Given the description of an element on the screen output the (x, y) to click on. 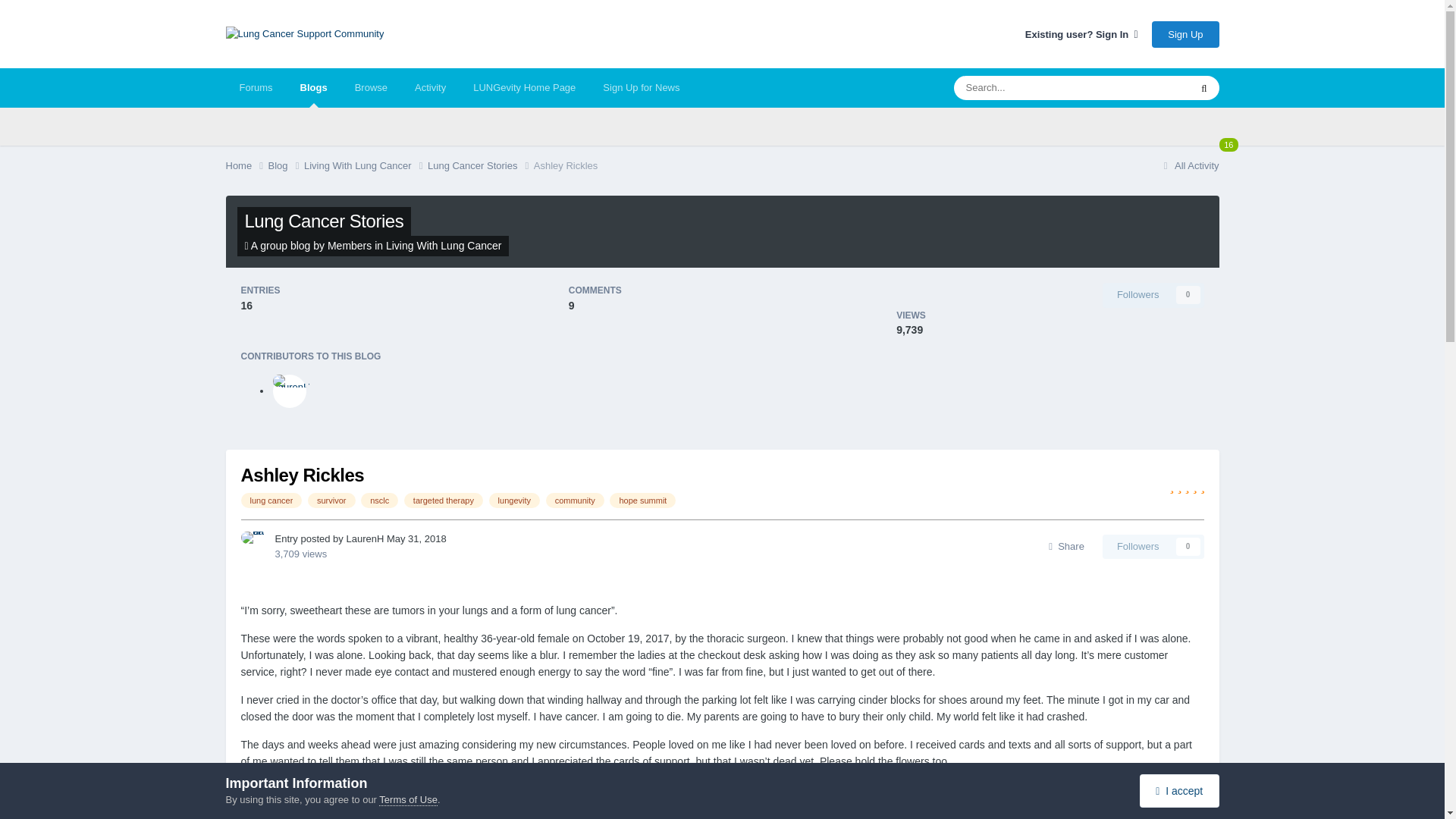
All Activity (1188, 165)
Home (246, 165)
survivor (331, 500)
Lung Cancer Stories (323, 220)
Existing user? Sign In   (1081, 34)
Find other content tagged with 'hope summit' (642, 500)
Activity (430, 87)
Find other content tagged with 'community' (575, 500)
Sign Up (1184, 34)
Find other content tagged with 'survivor' (331, 500)
nsclc (379, 500)
Find other content tagged with 'nsclc' (379, 500)
Sign in to follow this (1153, 294)
Blog (285, 165)
Go to LaurenH's profile (289, 390)
